Given the description of an element on the screen output the (x, y) to click on. 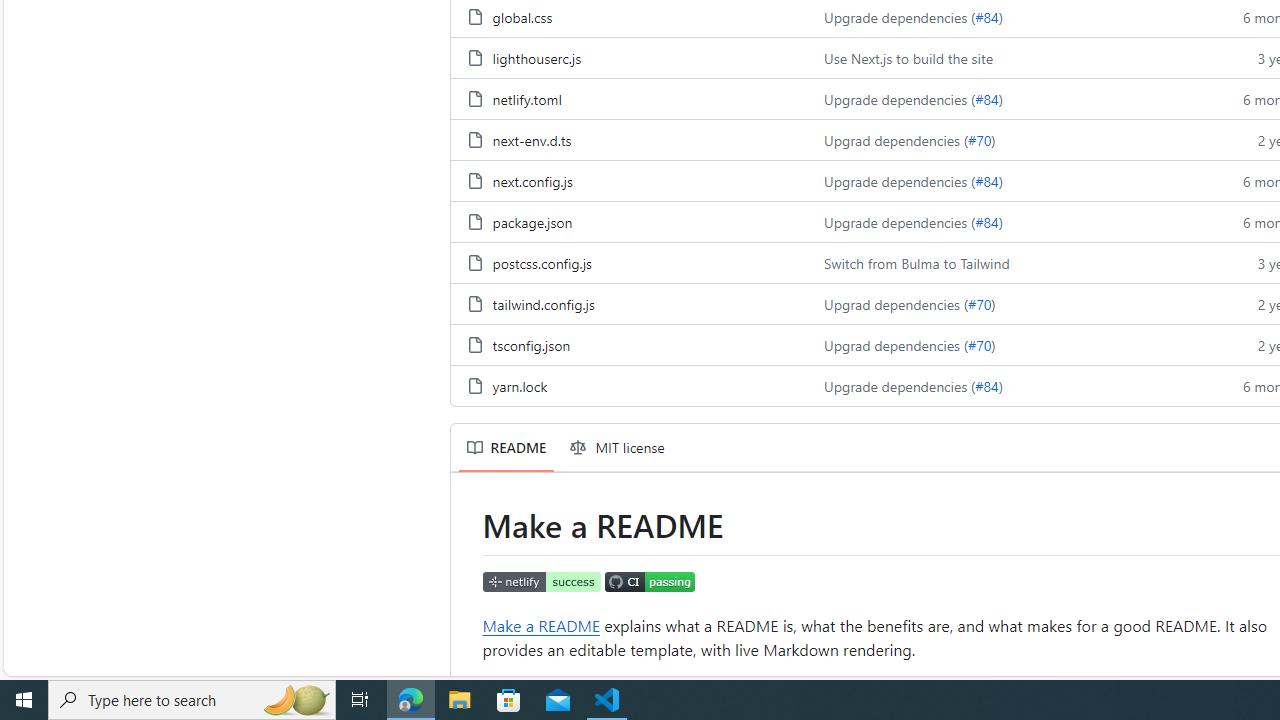
package.json, (File) (532, 221)
Make a README (541, 624)
next-env.d.ts, (File) (629, 138)
tailwind.config.js, (File) (543, 303)
package.json, (File) (629, 220)
) (1000, 385)
Upgrad dependencies ( (895, 344)
MIT license (617, 447)
Use Next.js to build the site (1008, 56)
next.config.js, (File) (629, 179)
Netlify Status (541, 580)
README (506, 447)
netlify.toml, (File) (526, 98)
tsconfig.json, (File) (629, 344)
postcss.config.js, (File) (629, 261)
